Given the description of an element on the screen output the (x, y) to click on. 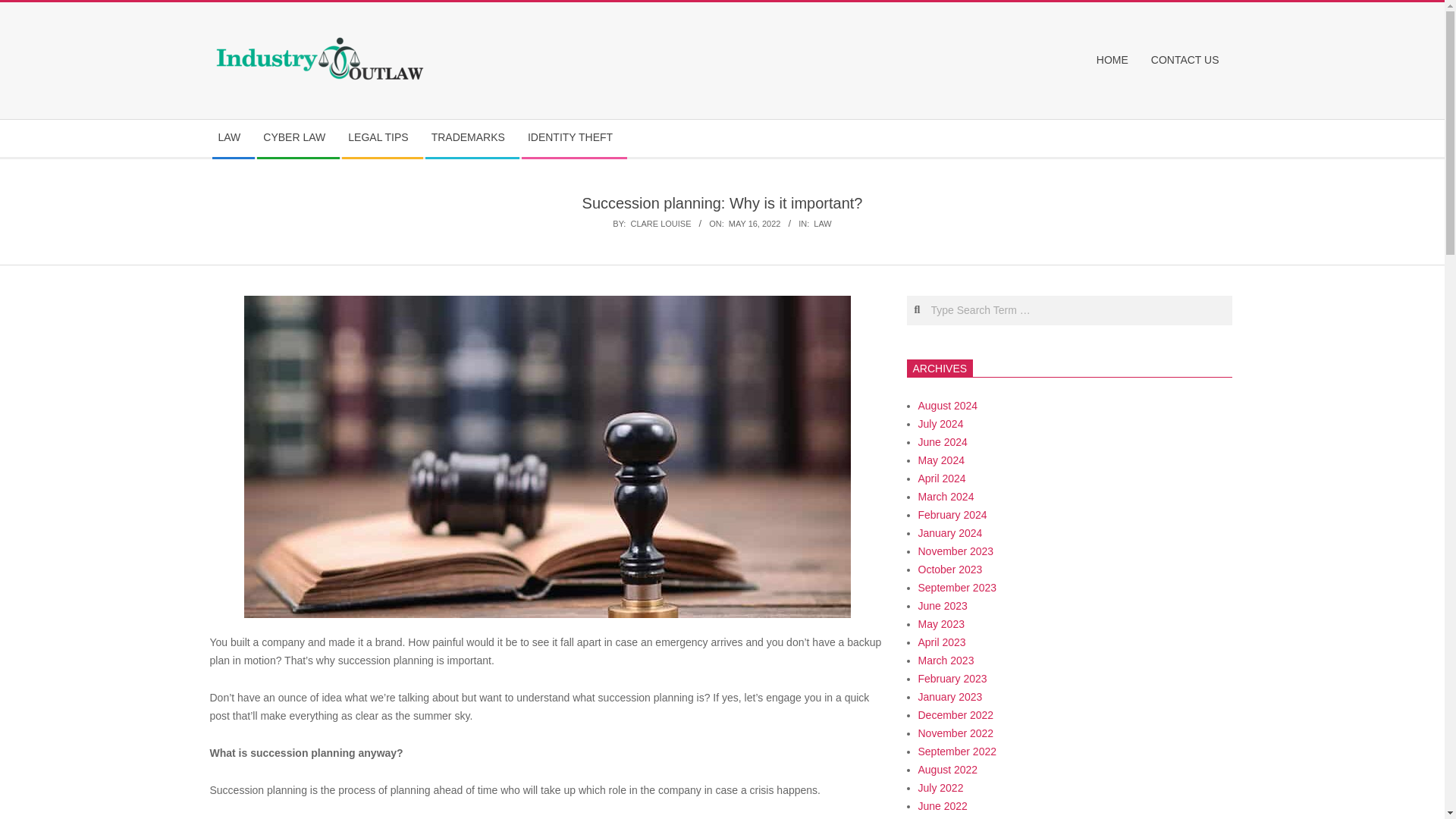
CLARE LOUISE (660, 223)
LAW (233, 138)
November 2023 (954, 551)
July 2022 (939, 787)
January 2023 (949, 696)
LEGAL TIPS (381, 138)
March 2024 (945, 496)
Posts by Clare Louise (660, 223)
August 2022 (946, 769)
May 2024 (940, 460)
